Given the description of an element on the screen output the (x, y) to click on. 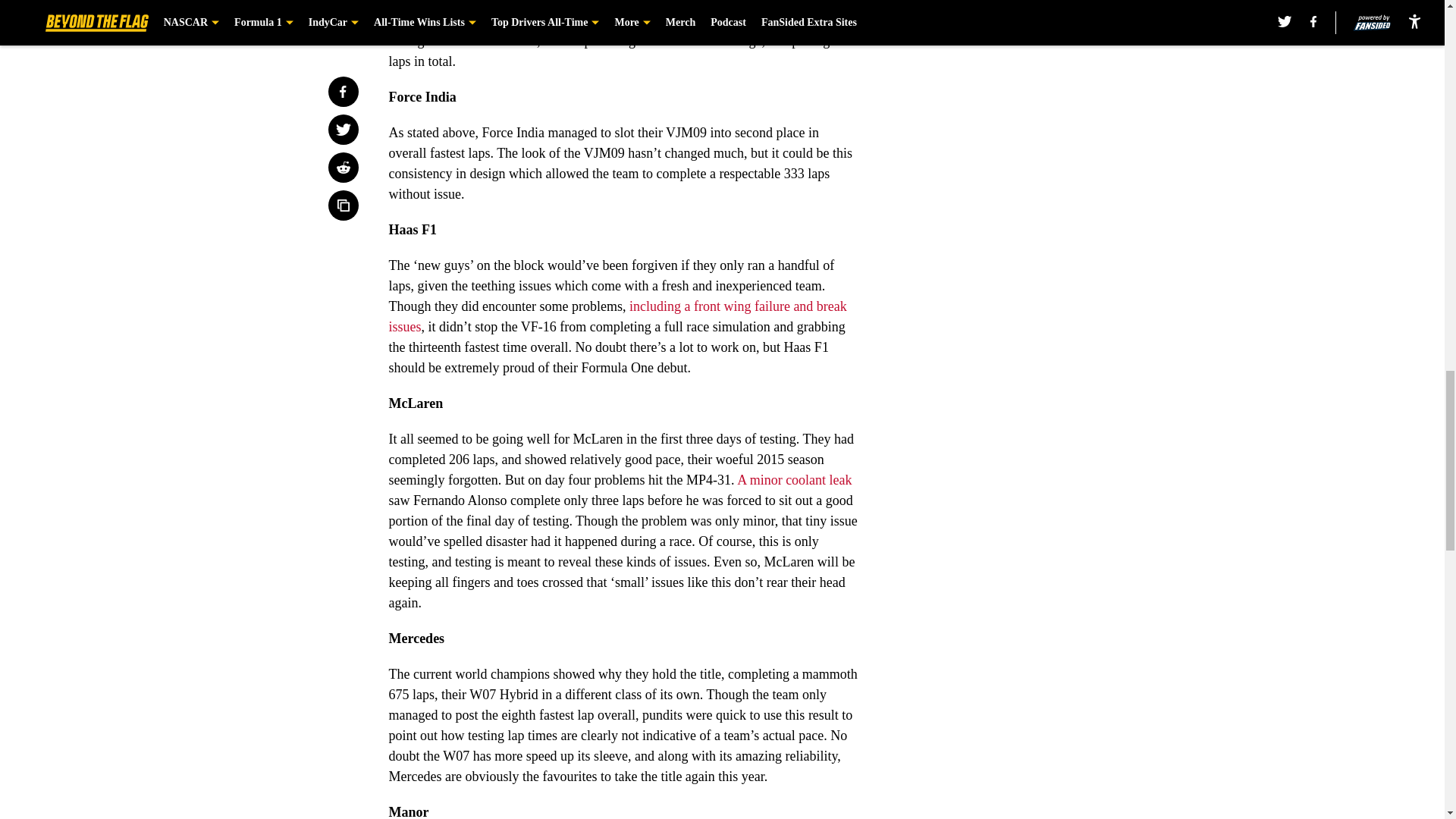
including a front wing failure and break issues (616, 316)
A minor coolant leak (793, 479)
putting in a 1:22.810 (445, 20)
